Given the description of an element on the screen output the (x, y) to click on. 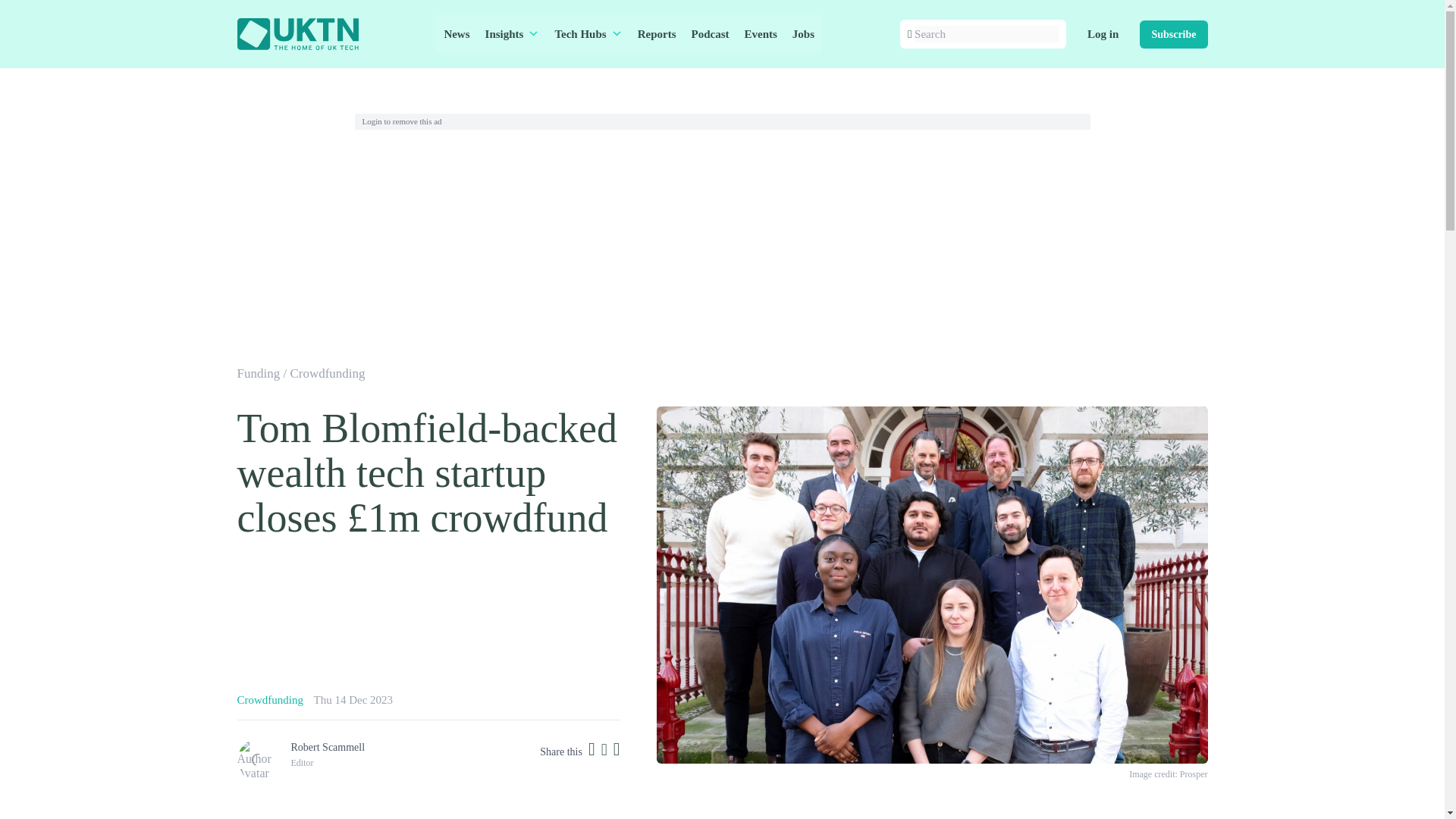
Posts by Robert Scammell (328, 747)
Robert Scammell (328, 747)
Subscribe (1173, 33)
Jobs (803, 34)
Insights (512, 34)
Tech Hubs (587, 34)
Funding (257, 373)
Search for: (986, 34)
News (456, 34)
